Given the description of an element on the screen output the (x, y) to click on. 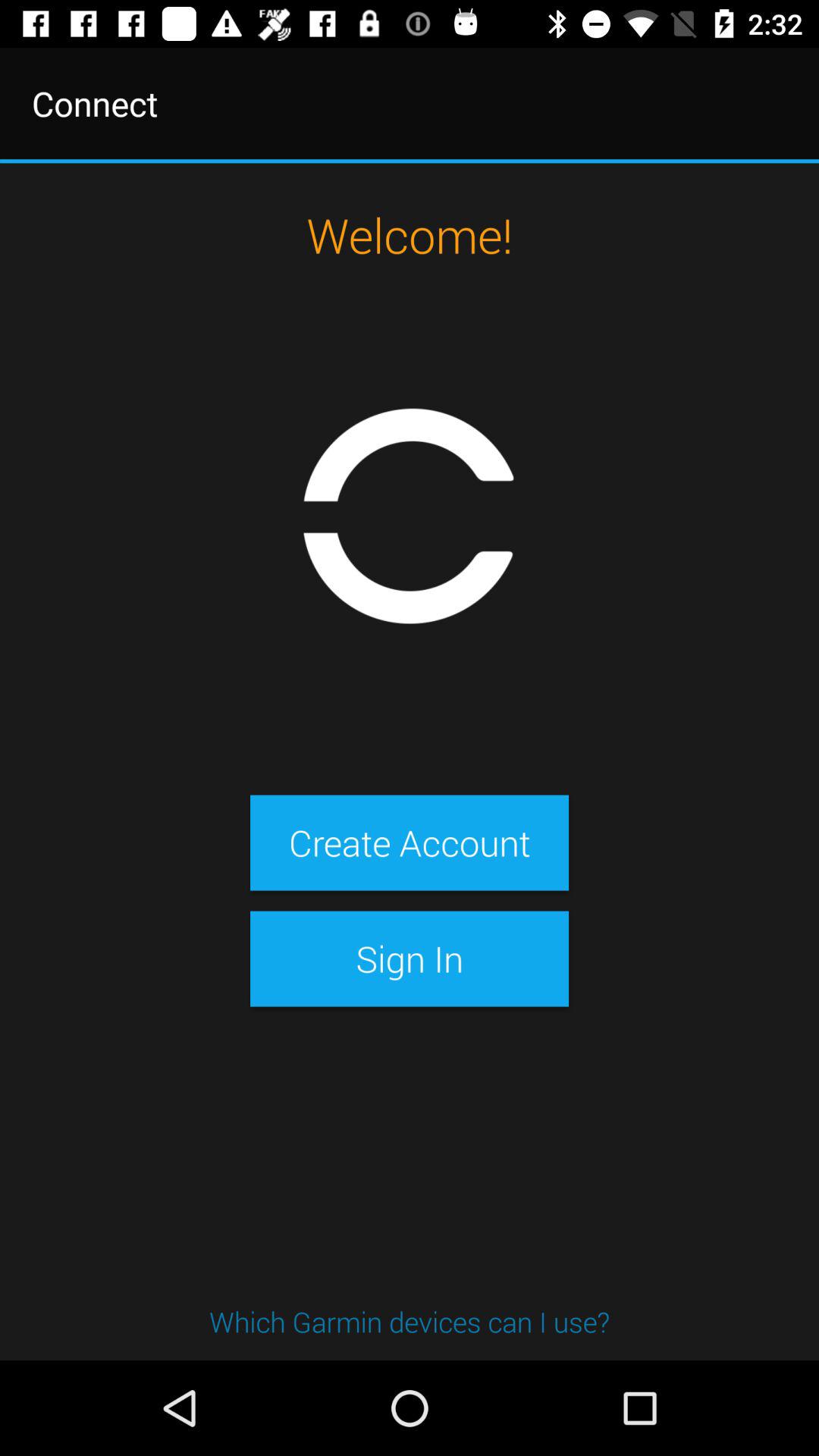
launch the sign in item (409, 958)
